Given the description of an element on the screen output the (x, y) to click on. 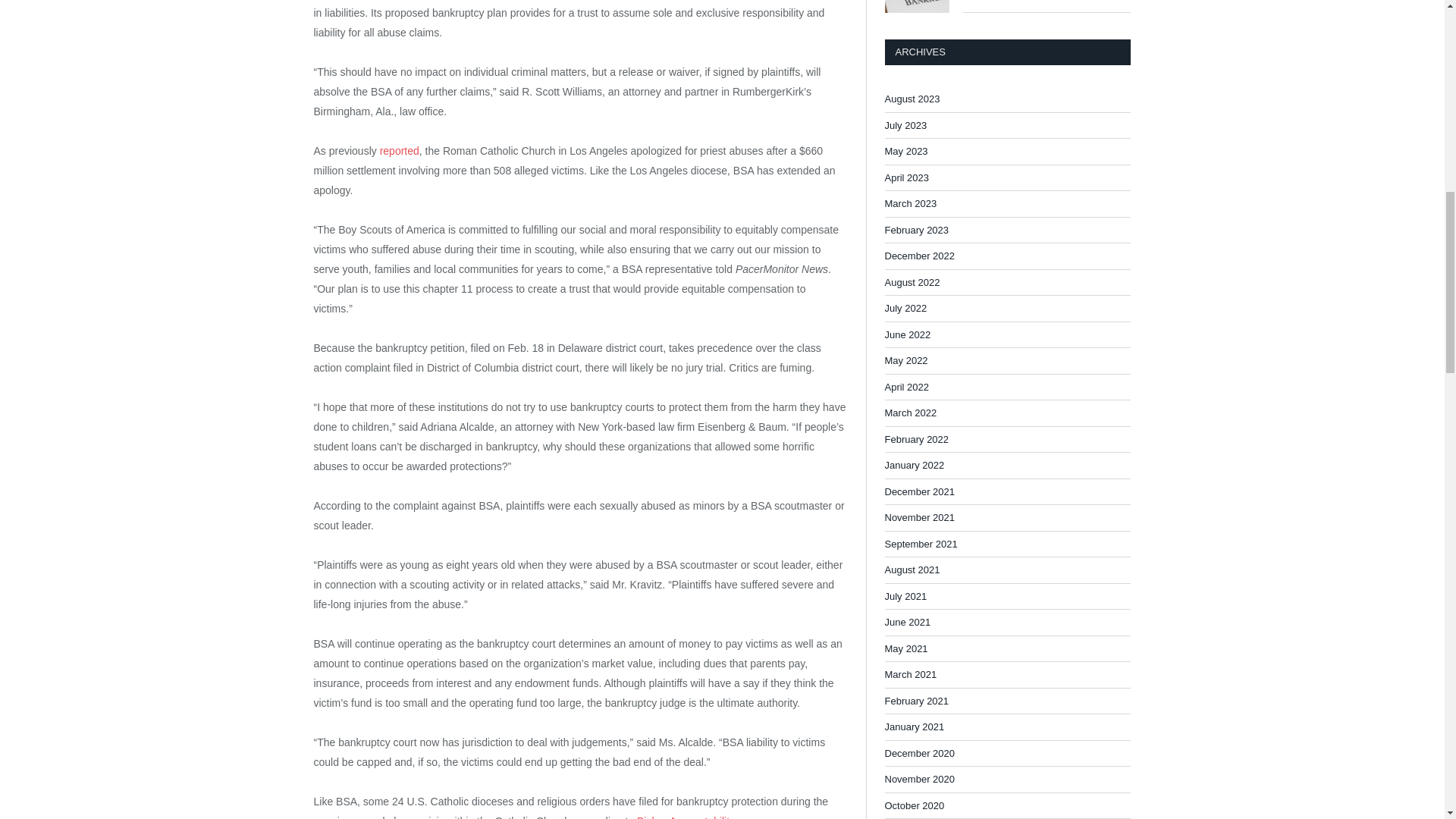
reported (399, 150)
BishopAccountability.org (694, 816)
